Given the description of an element on the screen output the (x, y) to click on. 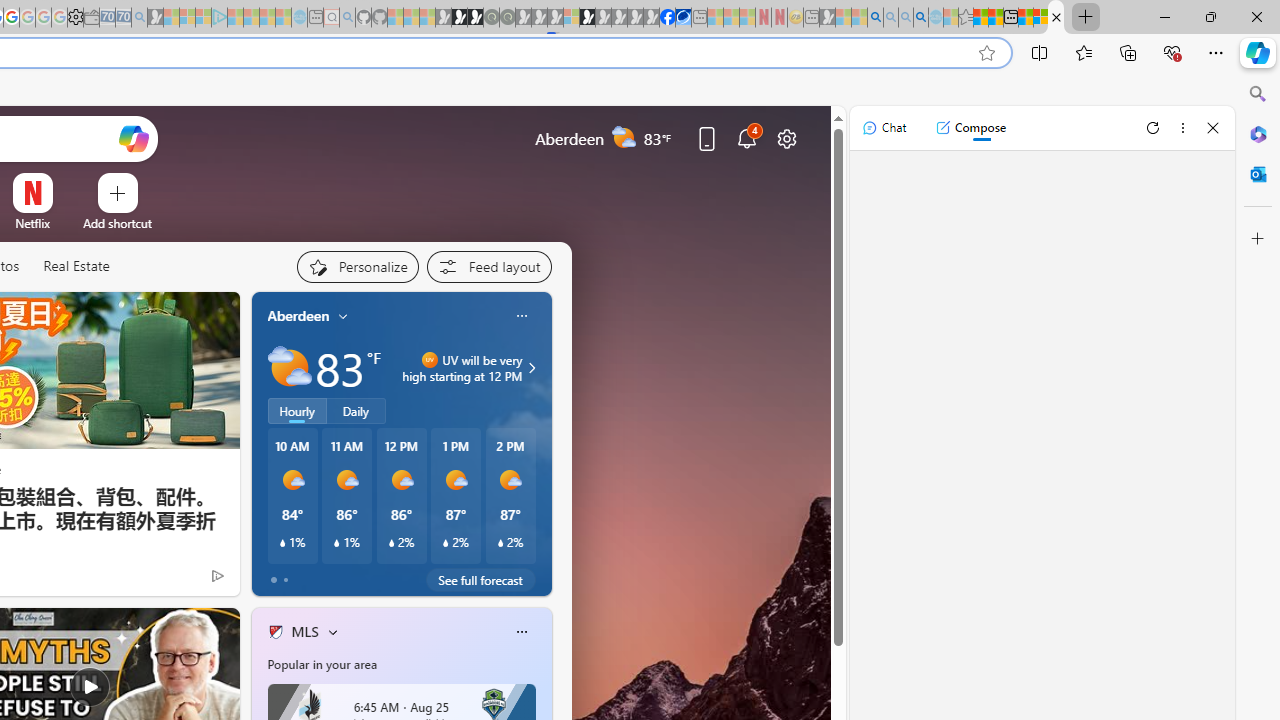
Aberdeen (298, 315)
Nordace | Facebook (667, 17)
Partly sunny (289, 368)
Favorites - Sleeping (965, 17)
Daily (356, 411)
Sign in to your account - Sleeping (571, 17)
Real Estate (75, 267)
